Given the description of an element on the screen output the (x, y) to click on. 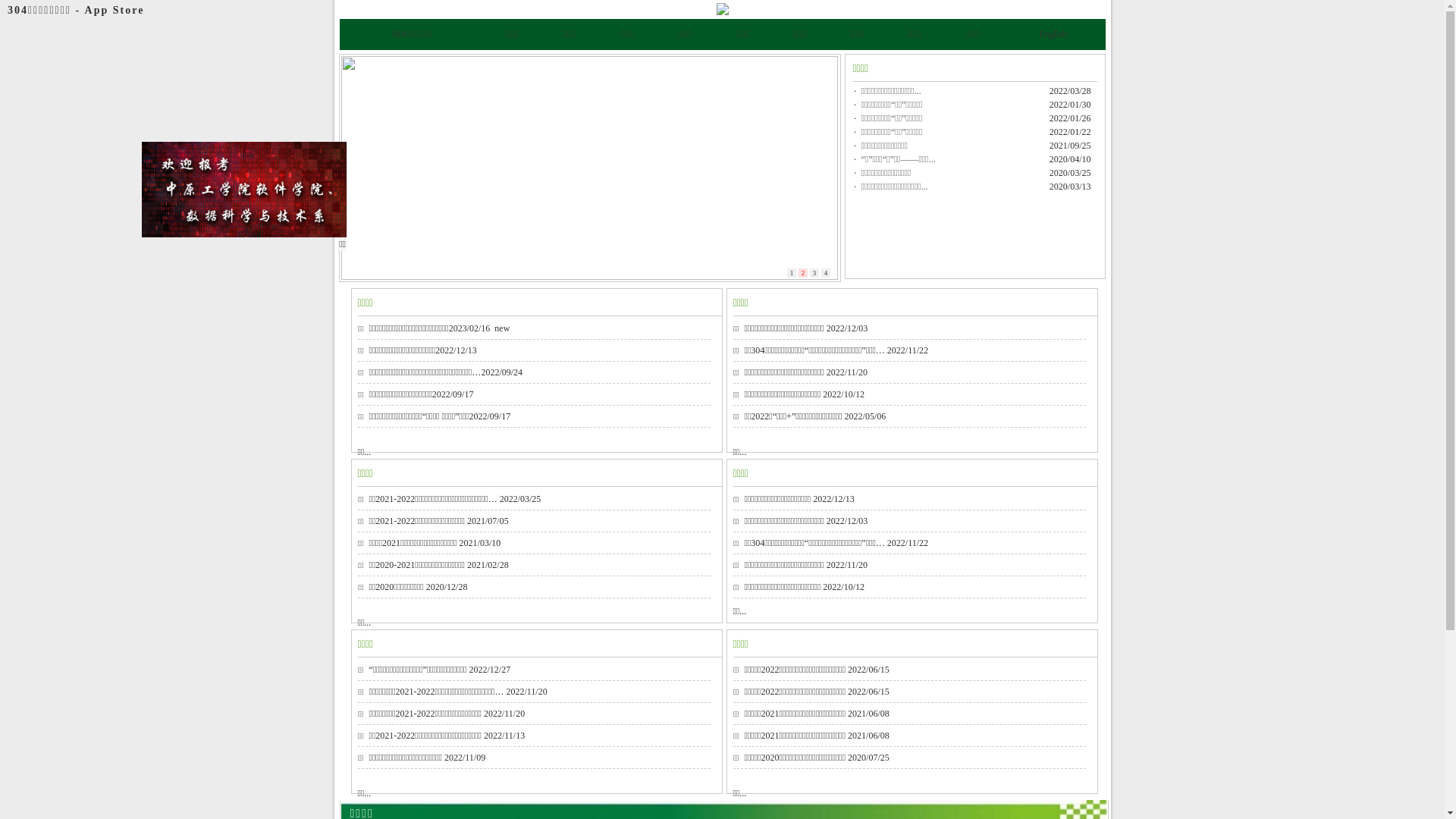
 English  Element type: text (1052, 33)
